Given the description of an element on the screen output the (x, y) to click on. 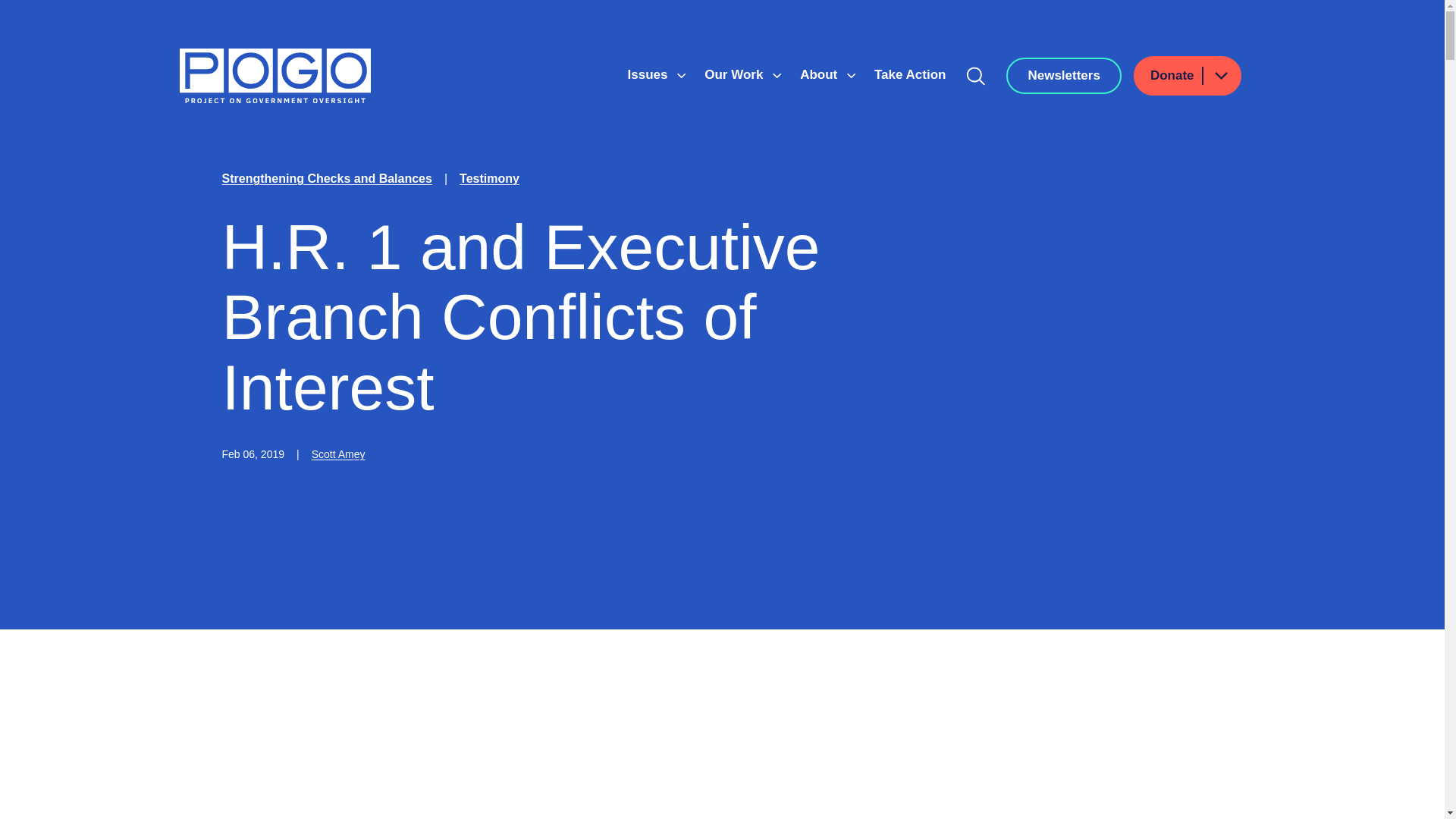
Home (274, 75)
About (820, 74)
Show submenu for Issues (681, 75)
Search (976, 75)
Donate (1187, 75)
Our Work (735, 74)
Issues (649, 74)
Newsletters (1063, 75)
Take Action (909, 74)
Show submenu for About (851, 75)
